Given the description of an element on the screen output the (x, y) to click on. 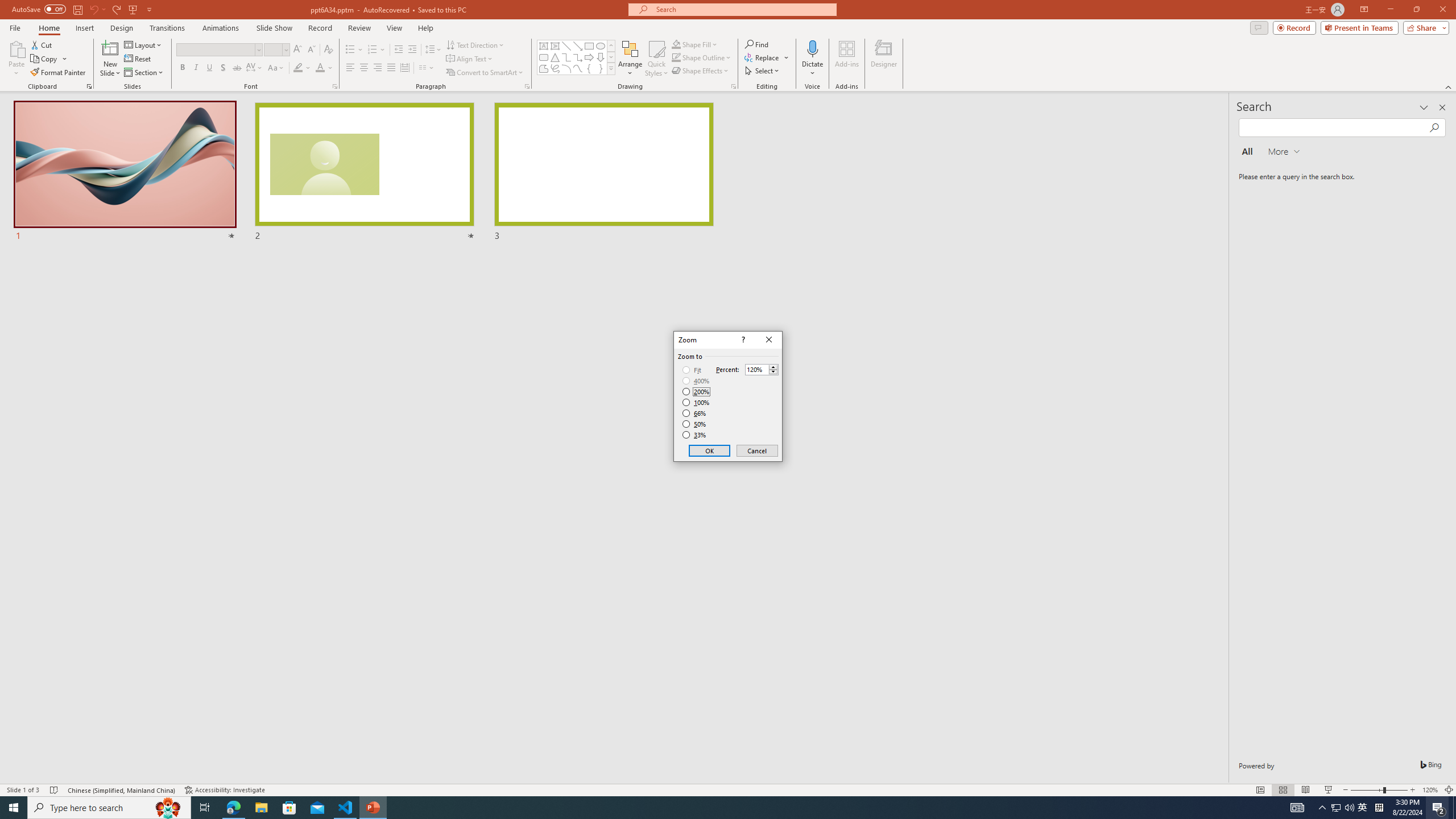
Percent (756, 369)
